Given the description of an element on the screen output the (x, y) to click on. 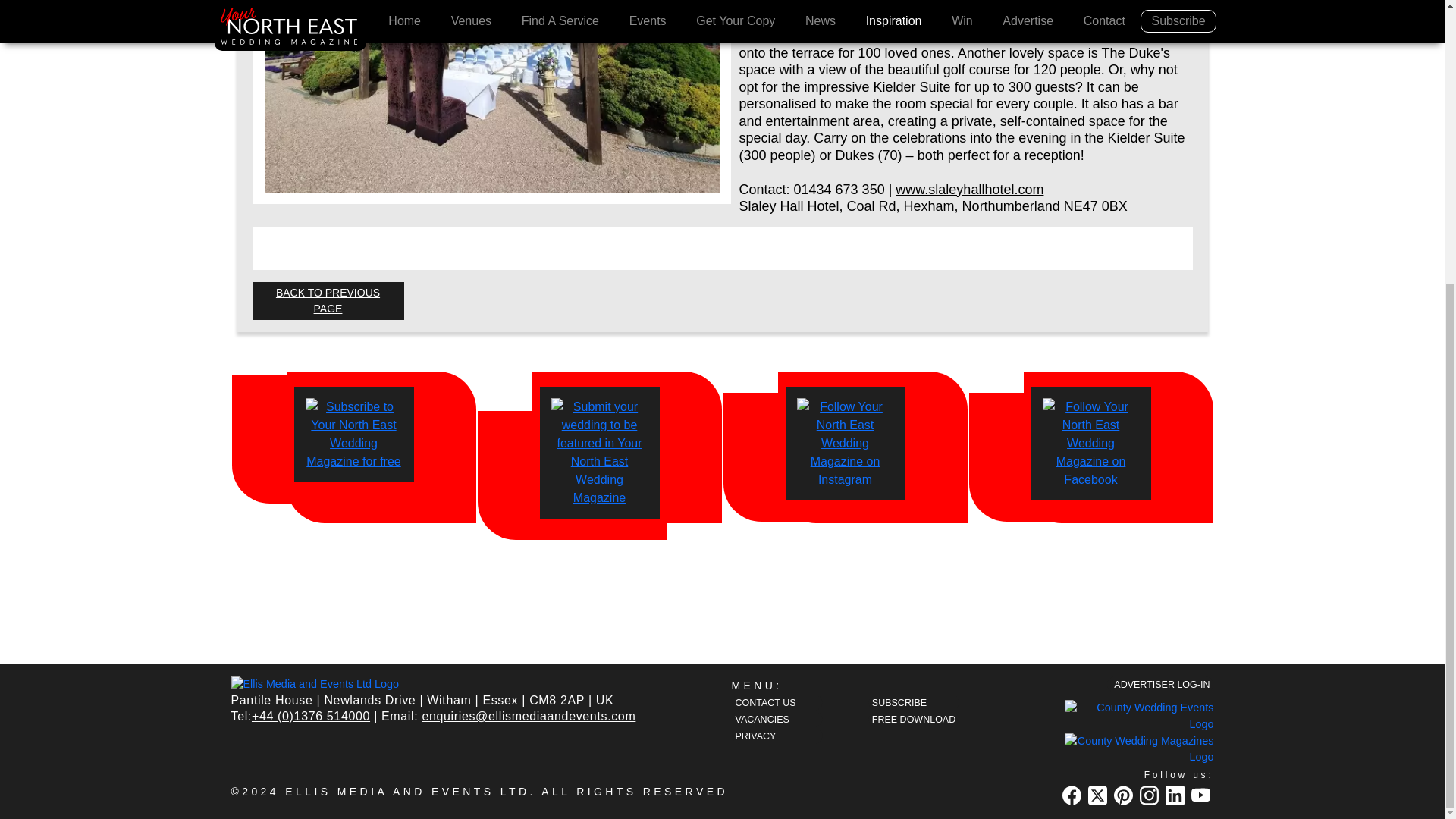
BACK TO PREVIOUS PAGE (327, 300)
CONTACT US (776, 702)
FREE DOWNLOAD (913, 719)
PRIVACY (776, 735)
Subscribe to Your North East Wedding Magazine for free (353, 434)
Follow Your North East Wedding Magazine on Instagram (845, 443)
ADVERTISER LOG-IN (1159, 684)
Back to previous page (327, 300)
www.slaleyhallhotel.com (969, 189)
